Given the description of an element on the screen output the (x, y) to click on. 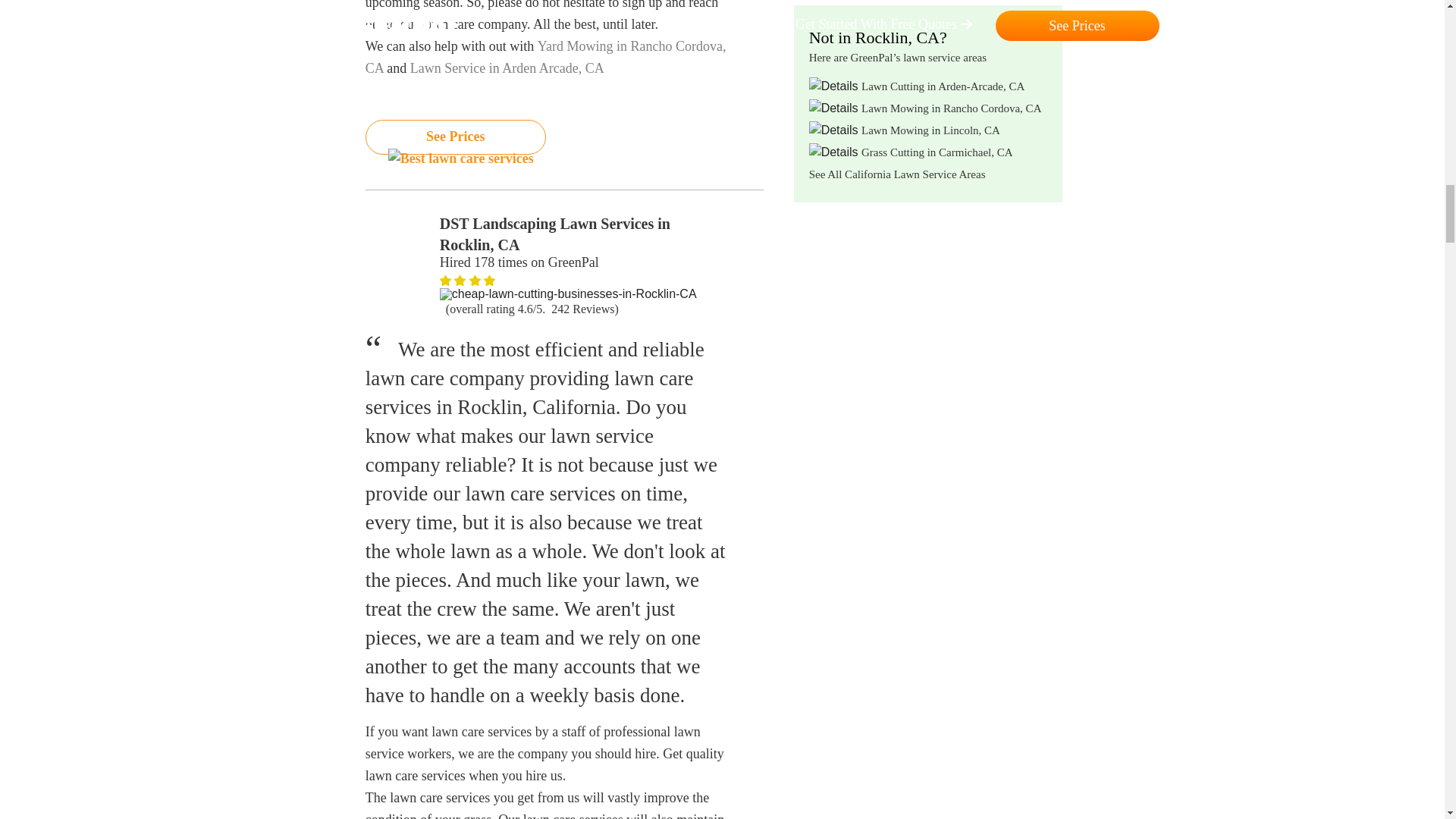
Lawn Service in Arden Arcade, CA (507, 68)
Grass Cutting in Carmichael, CA (937, 152)
Yard Mowing in Rancho Cordova, CA (545, 57)
affordable-landscaping-maintenance-services-in-Rocklin-CA (474, 280)
lawn-maintenance-in-Rocklin-CA (398, 246)
local-lawn-cutting-services-in-Rocklin-CA (568, 294)
Lawn Mowing in Rancho Cordova, CA (951, 108)
local-lawn-maintenance-contractors-in-Rocklin-CA (489, 280)
Lawn Cutting in Arden-Arcade, CA (943, 86)
See All California Lawn Service Areas (897, 174)
Lawn Mowing in Lincoln, CA (930, 130)
See Prices (455, 136)
affordable-grass-cutting-businesses-in-Rocklin-CA (459, 280)
the-yard-cutting-businesses-in-Rocklin-CA (445, 280)
